Given the description of an element on the screen output the (x, y) to click on. 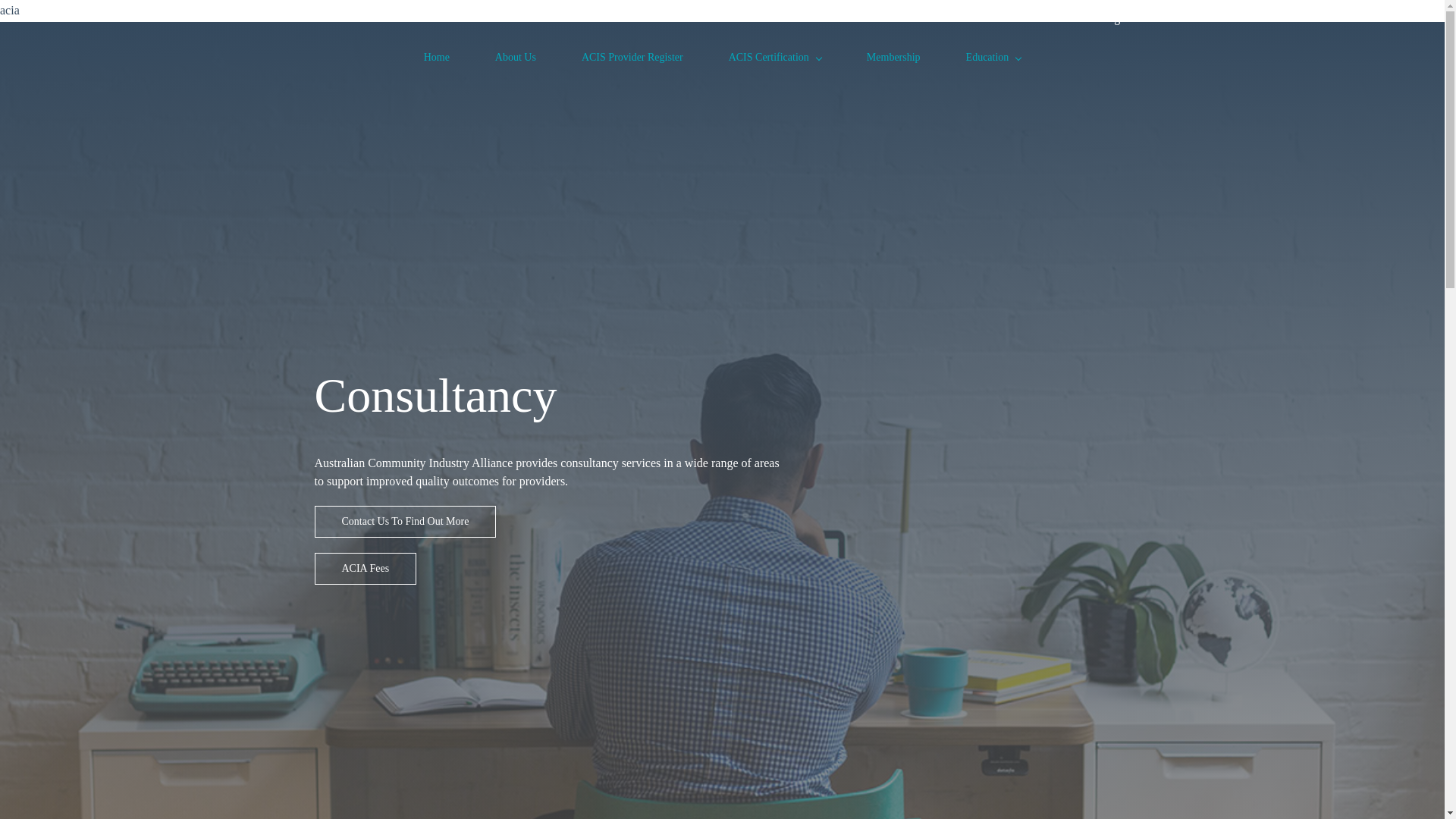
Membership (893, 57)
ACIA Fees (365, 568)
ACIS Provider Register (631, 57)
ACIS Certification (775, 57)
About Us (515, 57)
Membership (893, 57)
Education (994, 57)
About Us (515, 57)
ACIS Provider Register (631, 57)
ACIS Certification (775, 57)
Sign In (1122, 18)
Contact Us To Find Out More (405, 521)
Sign In (1122, 18)
Education (994, 57)
